Given the description of an element on the screen output the (x, y) to click on. 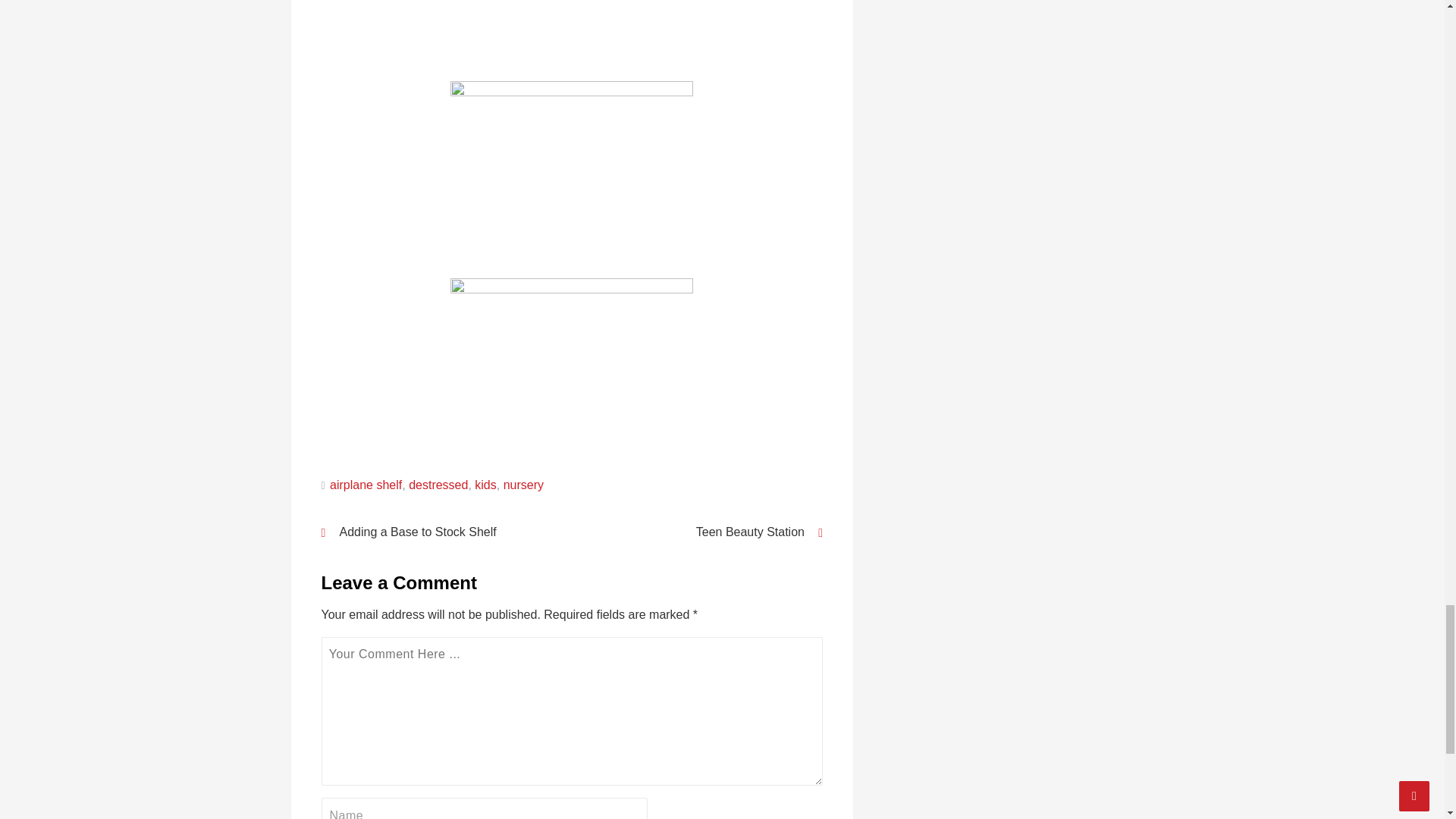
nursery (523, 483)
Adding a Base to Stock Shelf (436, 531)
Teen Beauty Station (707, 531)
destressed (438, 483)
kids (485, 483)
airplane shelf (365, 483)
